Given the description of an element on the screen output the (x, y) to click on. 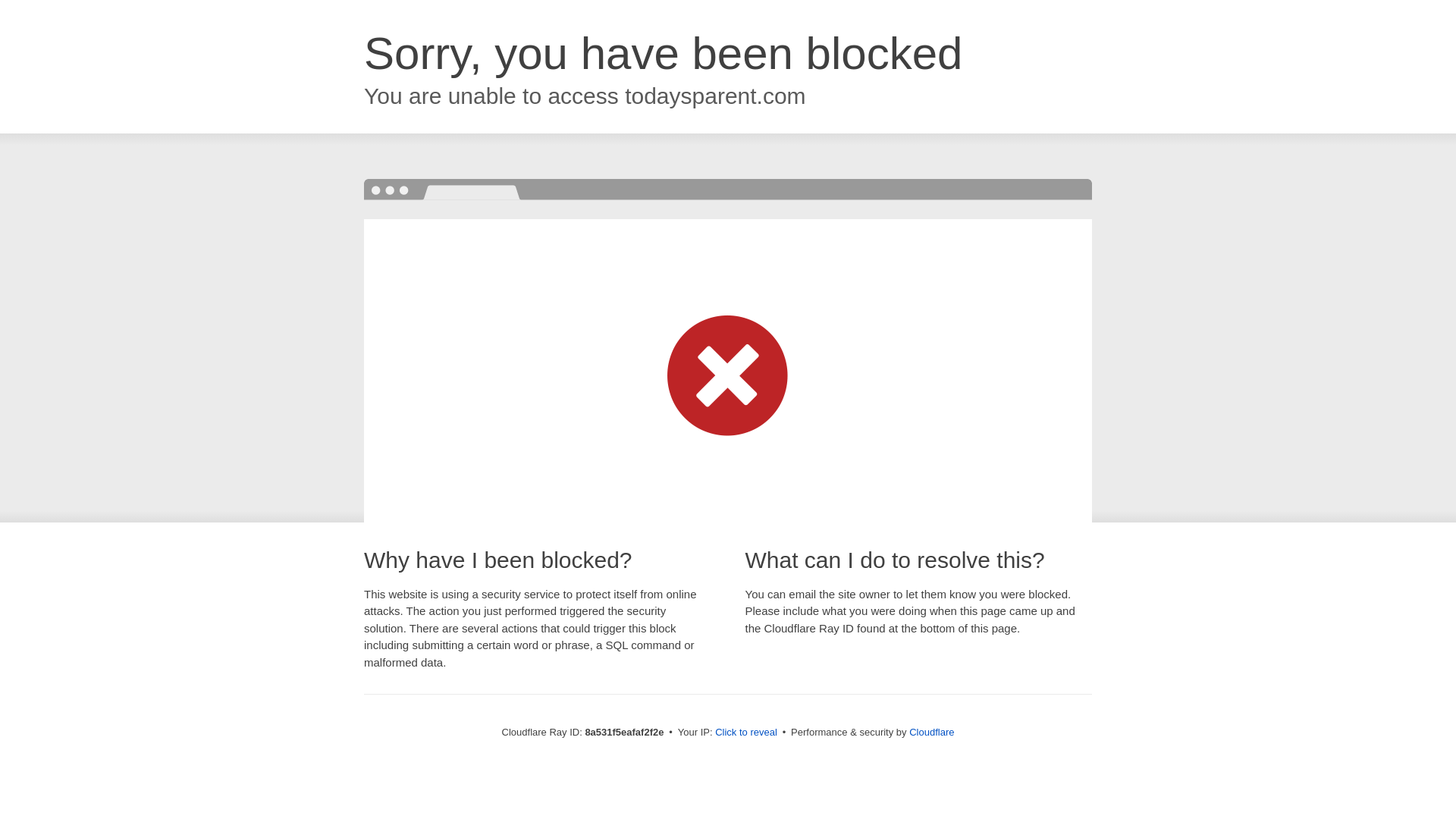
Cloudflare (930, 731)
Click to reveal (745, 732)
